Given the description of an element on the screen output the (x, y) to click on. 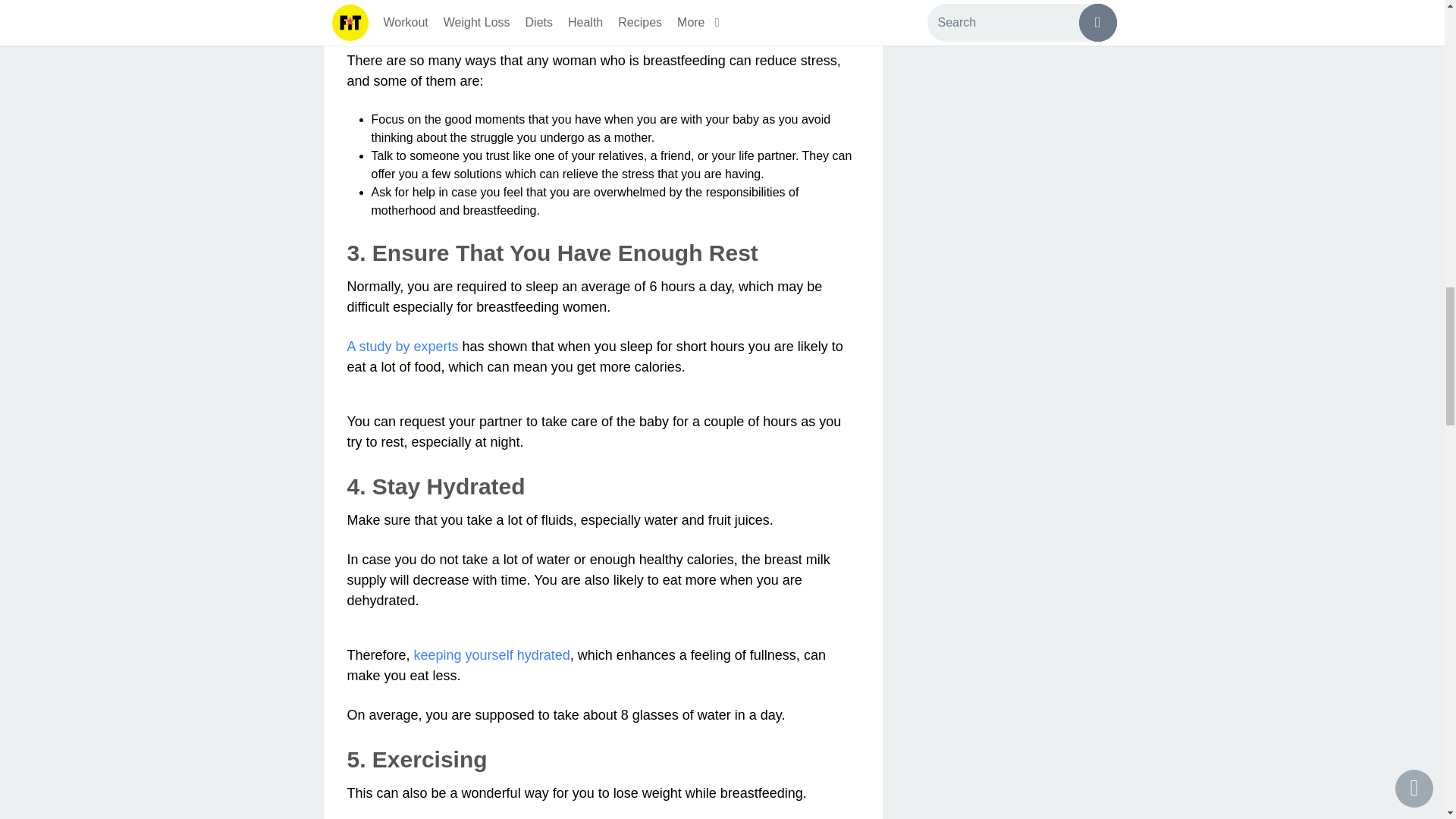
A study by experts (402, 346)
keeping yourself hydrated (491, 654)
